Given the description of an element on the screen output the (x, y) to click on. 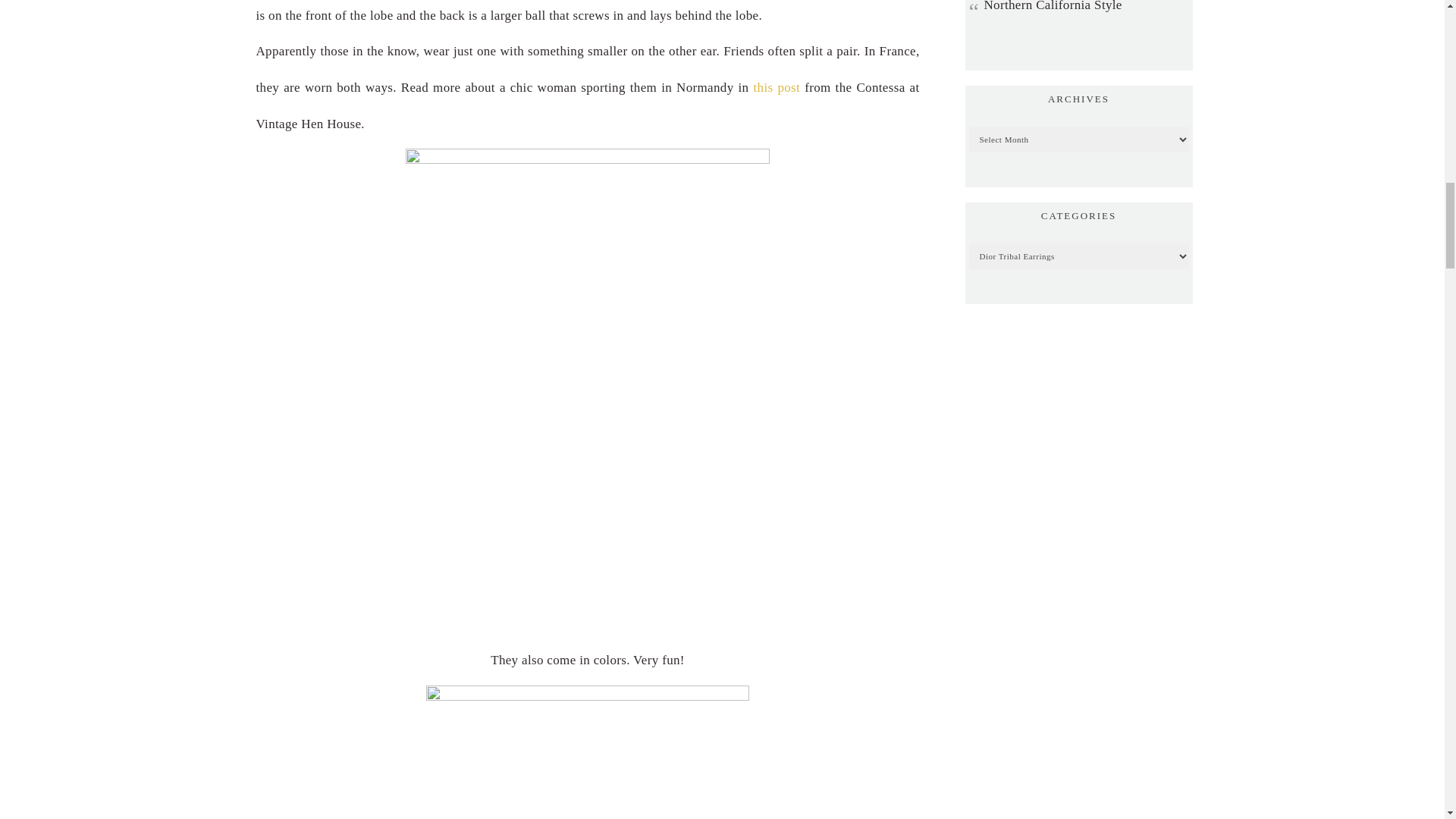
this post (775, 87)
